Given the description of an element on the screen output the (x, y) to click on. 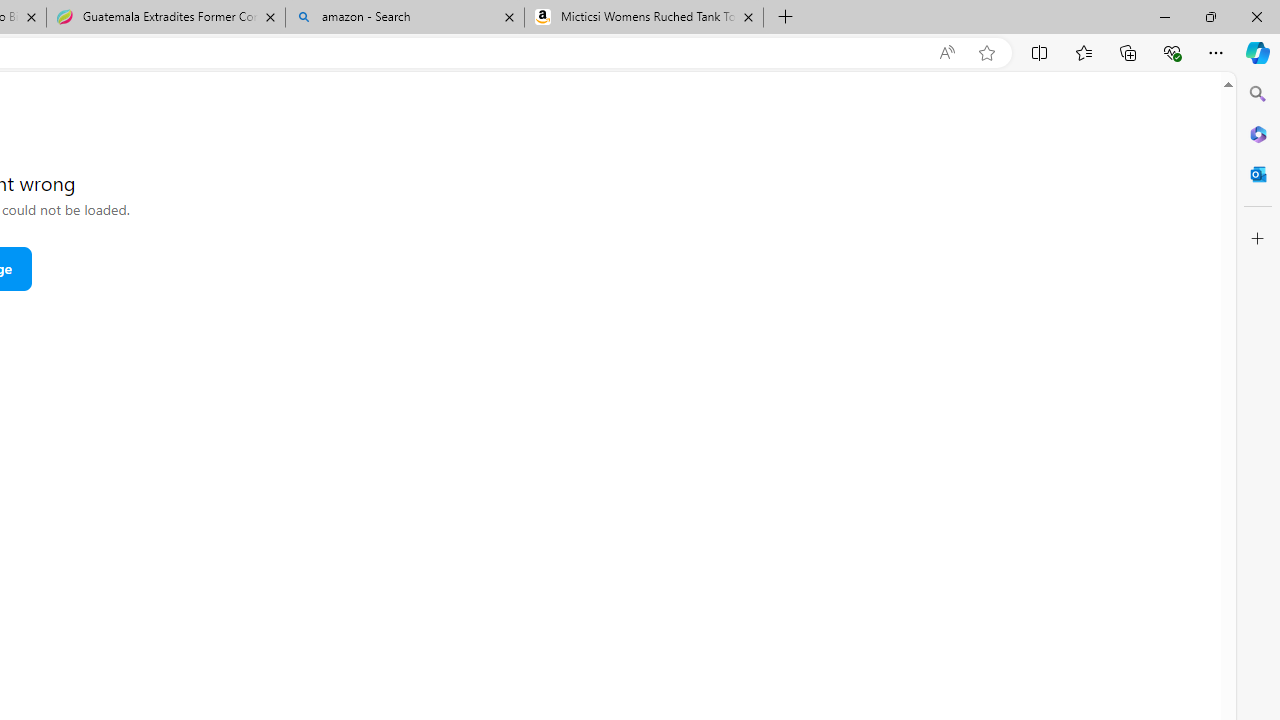
Copilot (Ctrl+Shift+.) (1258, 52)
Restore (1210, 16)
Collections (1128, 52)
Browser essentials (1171, 52)
Microsoft 365 (1258, 133)
Read aloud this page (Ctrl+Shift+U) (946, 53)
amazon - Search (404, 17)
Outlook (1258, 174)
Customize (1258, 239)
New Tab (785, 17)
Settings and more (Alt+F) (1215, 52)
Favorites (1083, 52)
